Given the description of an element on the screen output the (x, y) to click on. 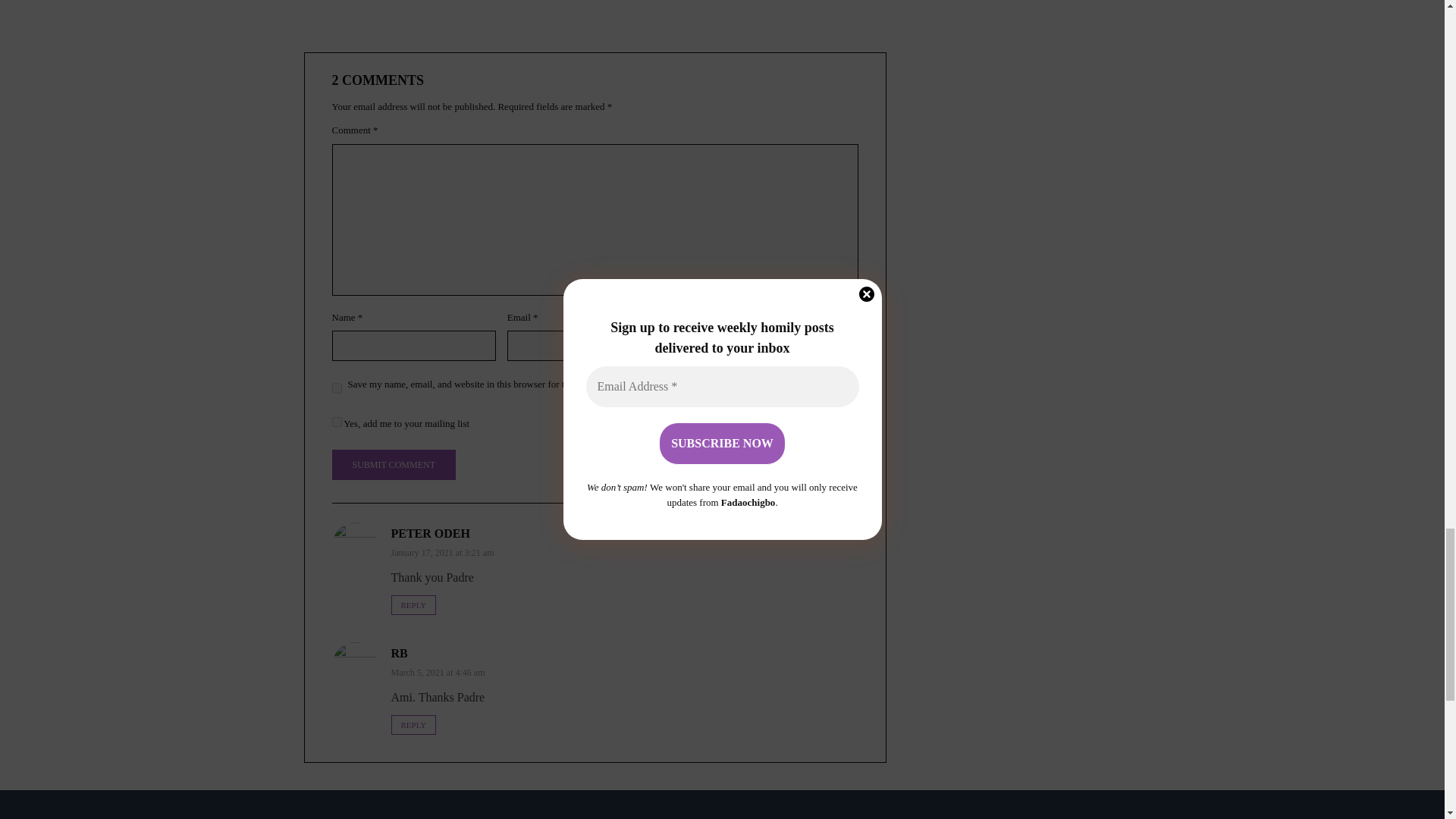
Submit Comment (393, 464)
1 (336, 421)
